Given the description of an element on the screen output the (x, y) to click on. 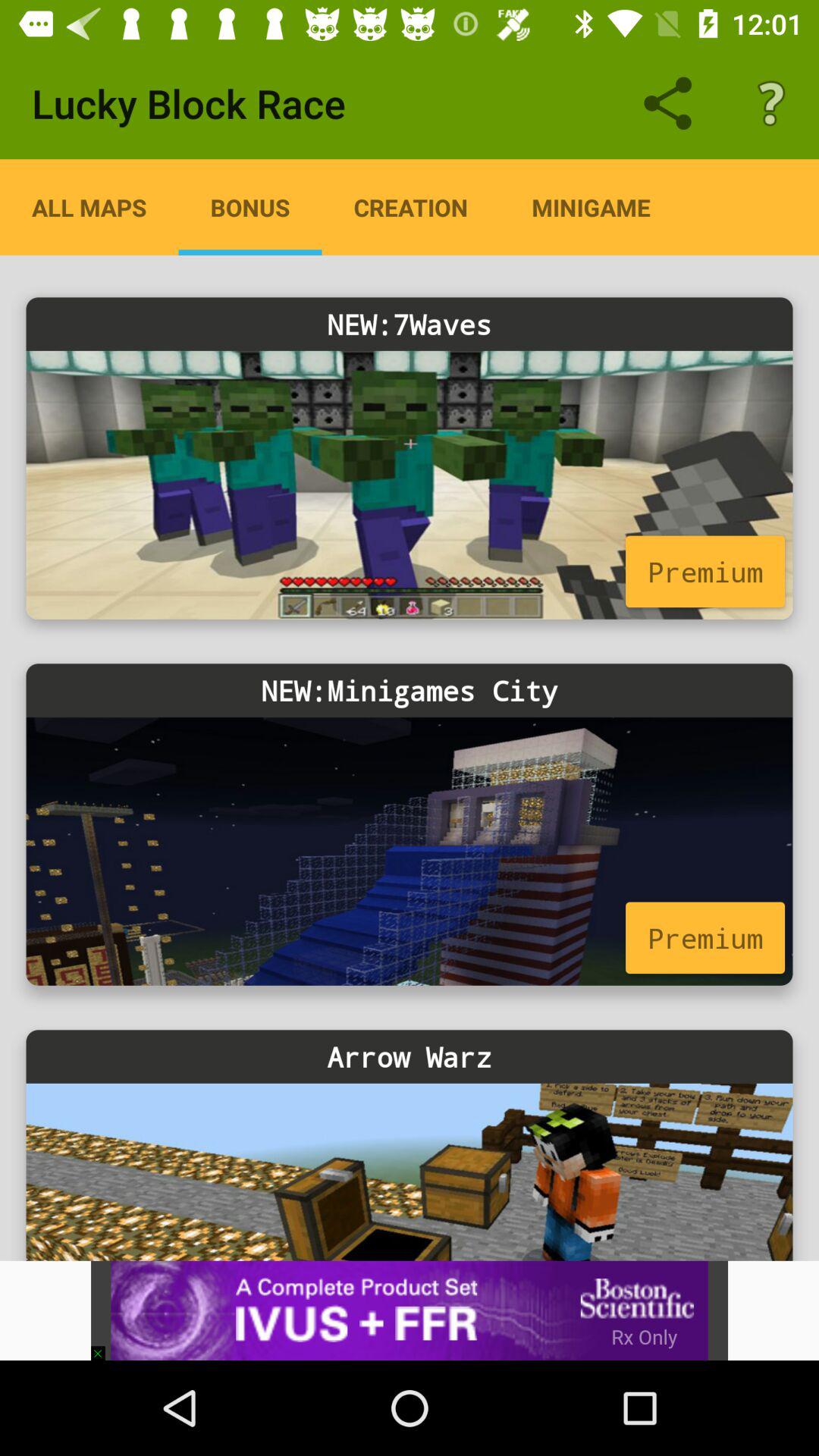
choose creation item (410, 207)
